Given the description of an element on the screen output the (x, y) to click on. 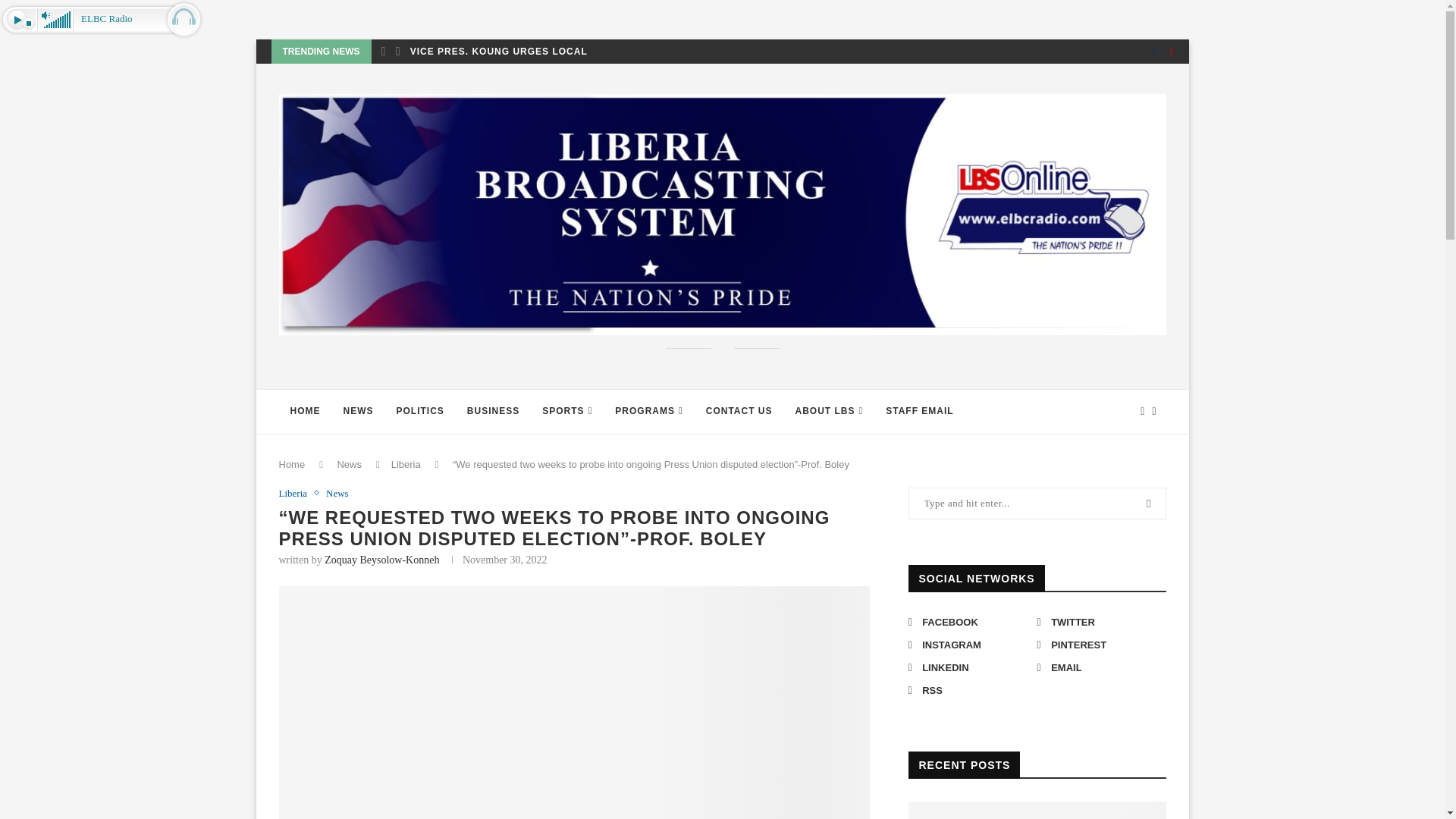
NEWS (358, 411)
SPORTS (567, 411)
ABOUT LBS (829, 411)
PROGRAMS (649, 411)
HOME (305, 411)
CONTACT US (739, 411)
VICE PRES. KOUNG URGES LOCAL AUTHORITIES TO OPERATE... (574, 51)
BUSINESS (493, 411)
POLITICS (420, 411)
